Given the description of an element on the screen output the (x, y) to click on. 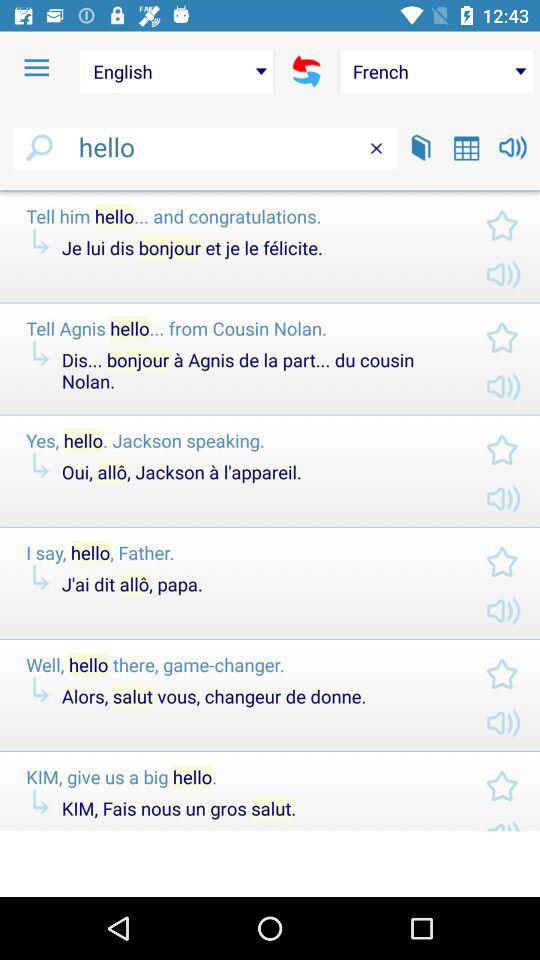
switch to calendar view (466, 148)
